Given the description of an element on the screen output the (x, y) to click on. 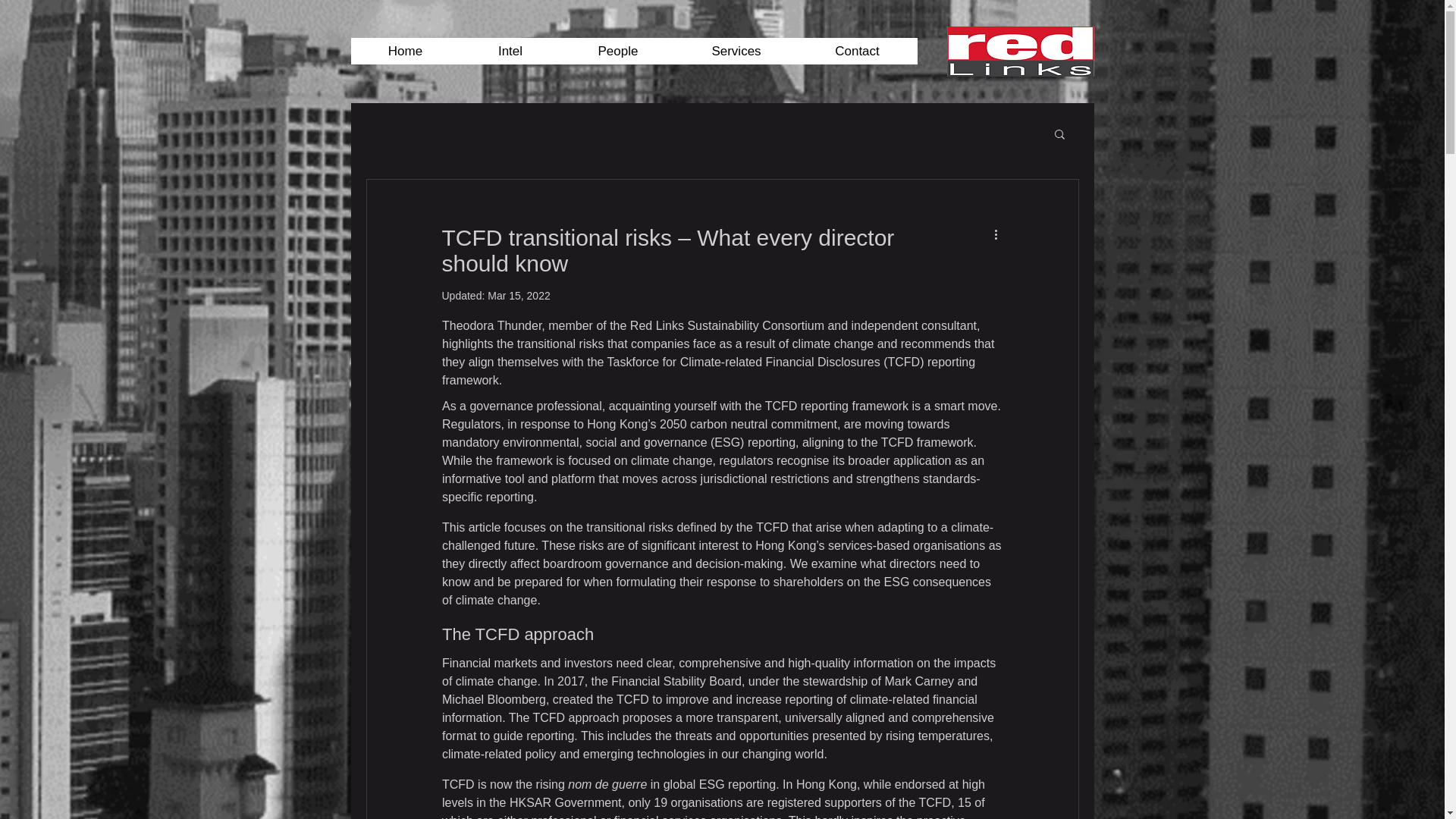
Intel (509, 50)
People (617, 50)
Contact (856, 50)
Mar 15, 2022 (518, 295)
Services (735, 50)
Home (405, 50)
